Given the description of an element on the screen output the (x, y) to click on. 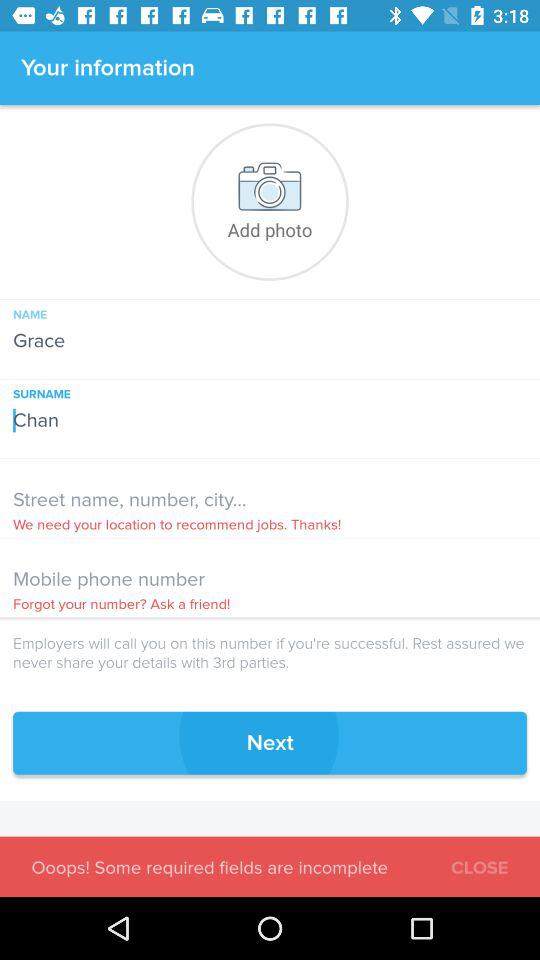
click the icon below the next (479, 864)
